Given the description of an element on the screen output the (x, y) to click on. 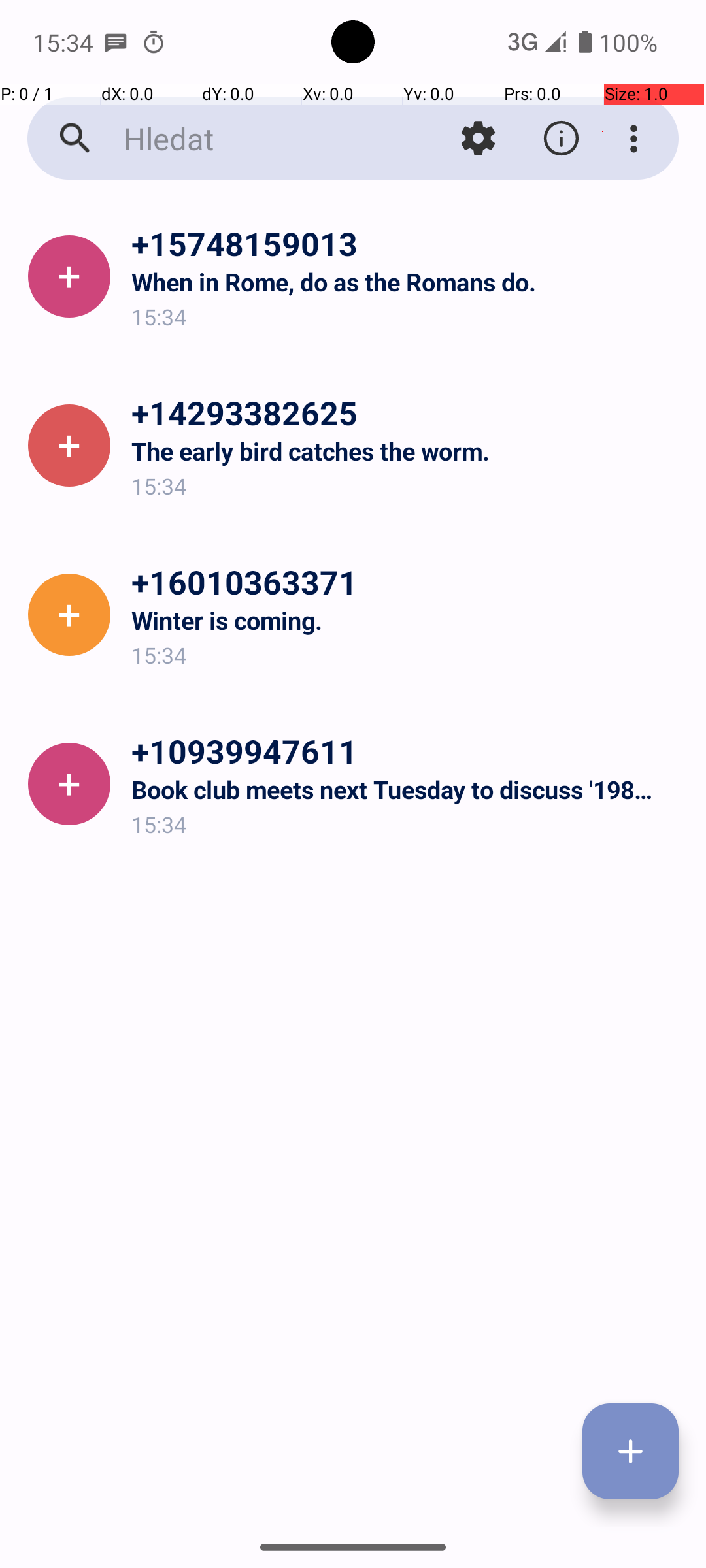
O aplikaci Element type: android.widget.Button (560, 138)
+15748159013 Element type: android.widget.TextView (408, 242)
When in Rome, do as the Romans do. Element type: android.widget.TextView (408, 281)
+14293382625 Element type: android.widget.TextView (408, 412)
The early bird catches the worm. Element type: android.widget.TextView (408, 450)
+16010363371 Element type: android.widget.TextView (408, 581)
Winter is coming. Element type: android.widget.TextView (408, 620)
+10939947611 Element type: android.widget.TextView (408, 750)
